Given the description of an element on the screen output the (x, y) to click on. 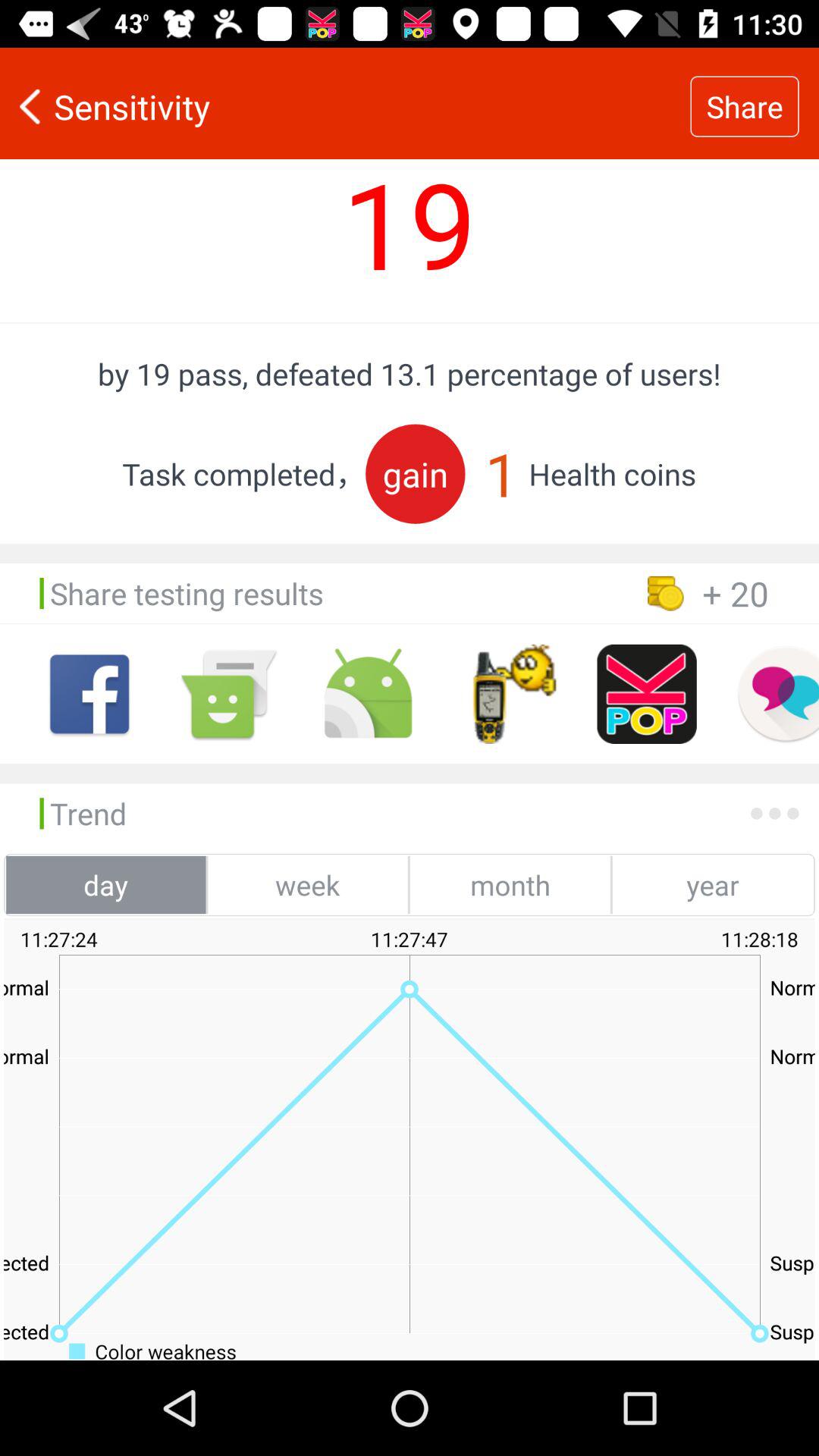
turn off icon to the left of the share item (345, 106)
